Given the description of an element on the screen output the (x, y) to click on. 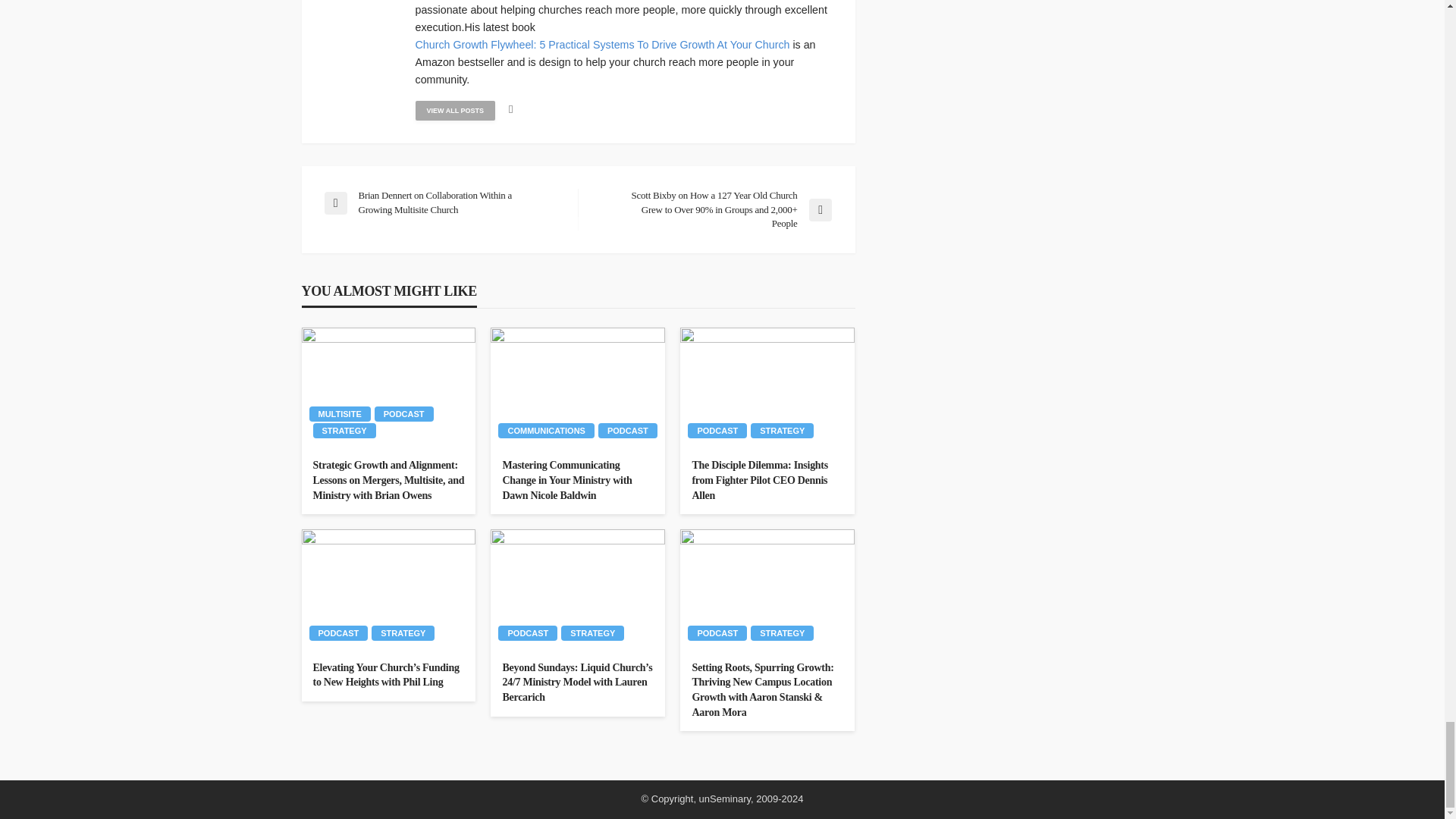
podcast (403, 413)
strategy (344, 430)
multisite (339, 413)
